Given the description of an element on the screen output the (x, y) to click on. 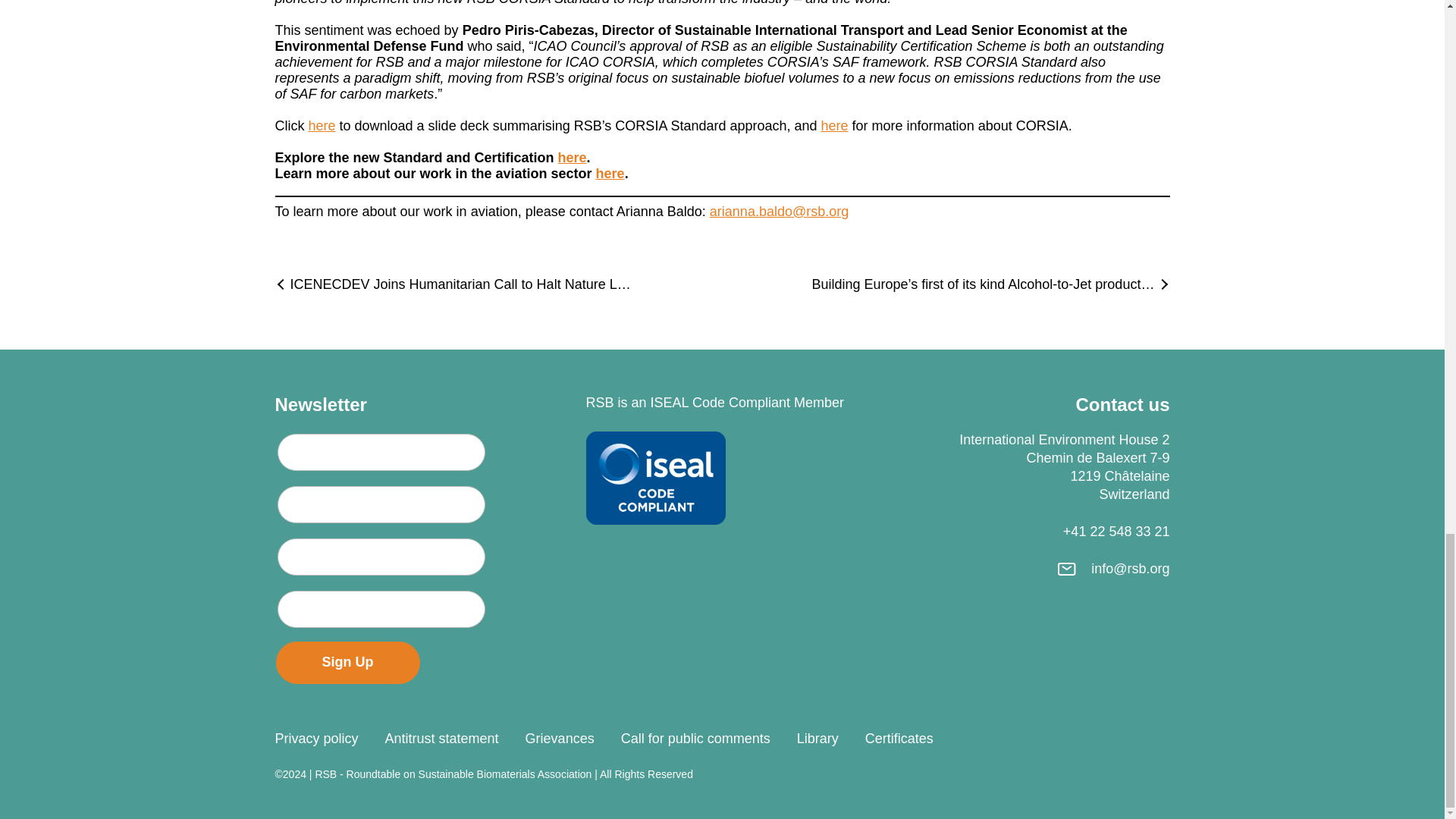
First Name (381, 452)
Email (381, 556)
Organisation (381, 609)
Sign Up (348, 662)
Last Name (381, 504)
